Given the description of an element on the screen output the (x, y) to click on. 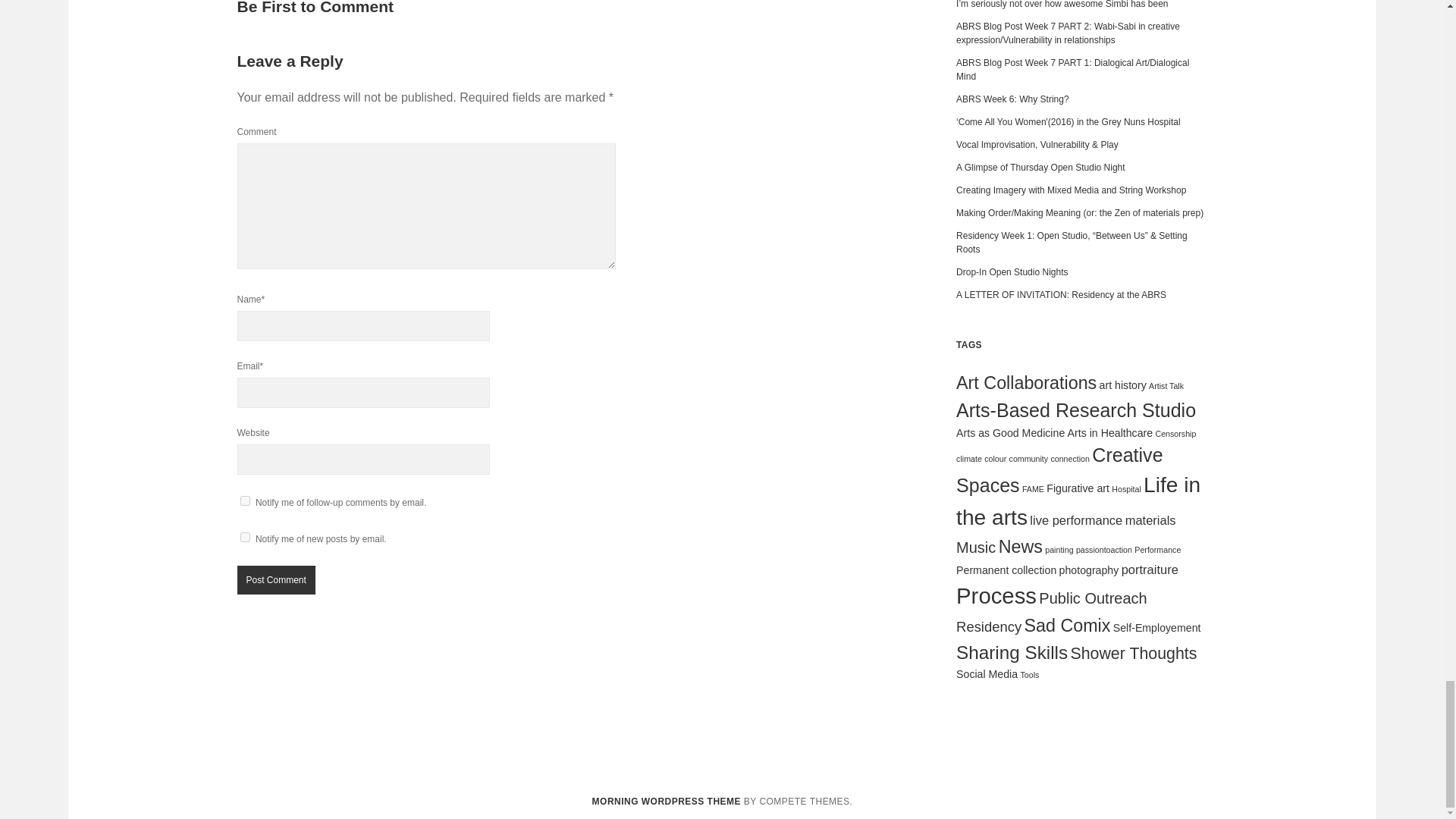
subscribe (244, 501)
subscribe (244, 537)
Post Comment (274, 579)
